Given the description of an element on the screen output the (x, y) to click on. 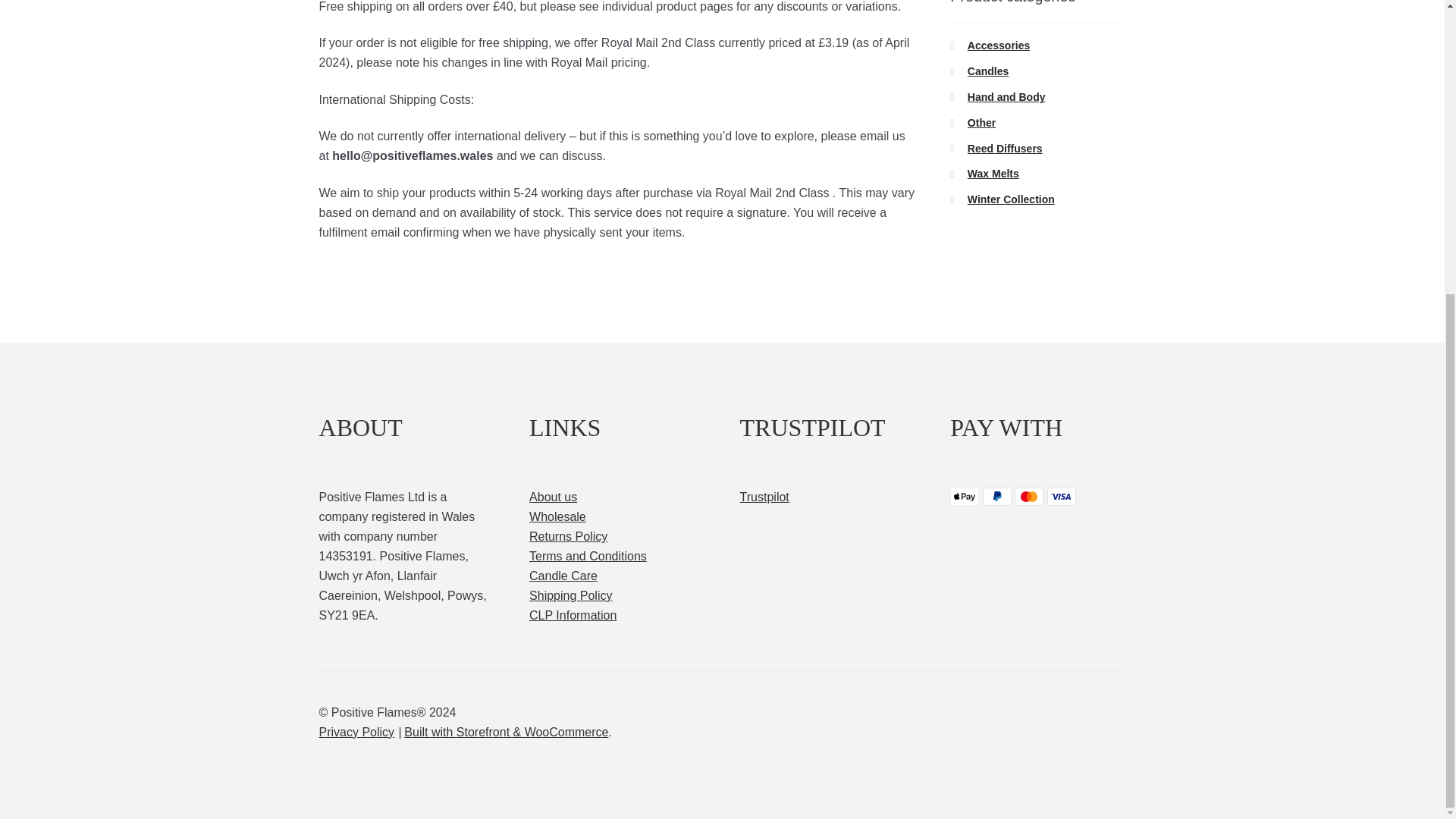
Candles (988, 70)
Visa (1060, 496)
Accessories (999, 45)
Apple Pay (964, 496)
Hand and Body (1006, 96)
WooCommerce - The Best eCommerce Platform for WordPress (506, 731)
PayPal (996, 496)
Mastercard (1028, 496)
